Given the description of an element on the screen output the (x, y) to click on. 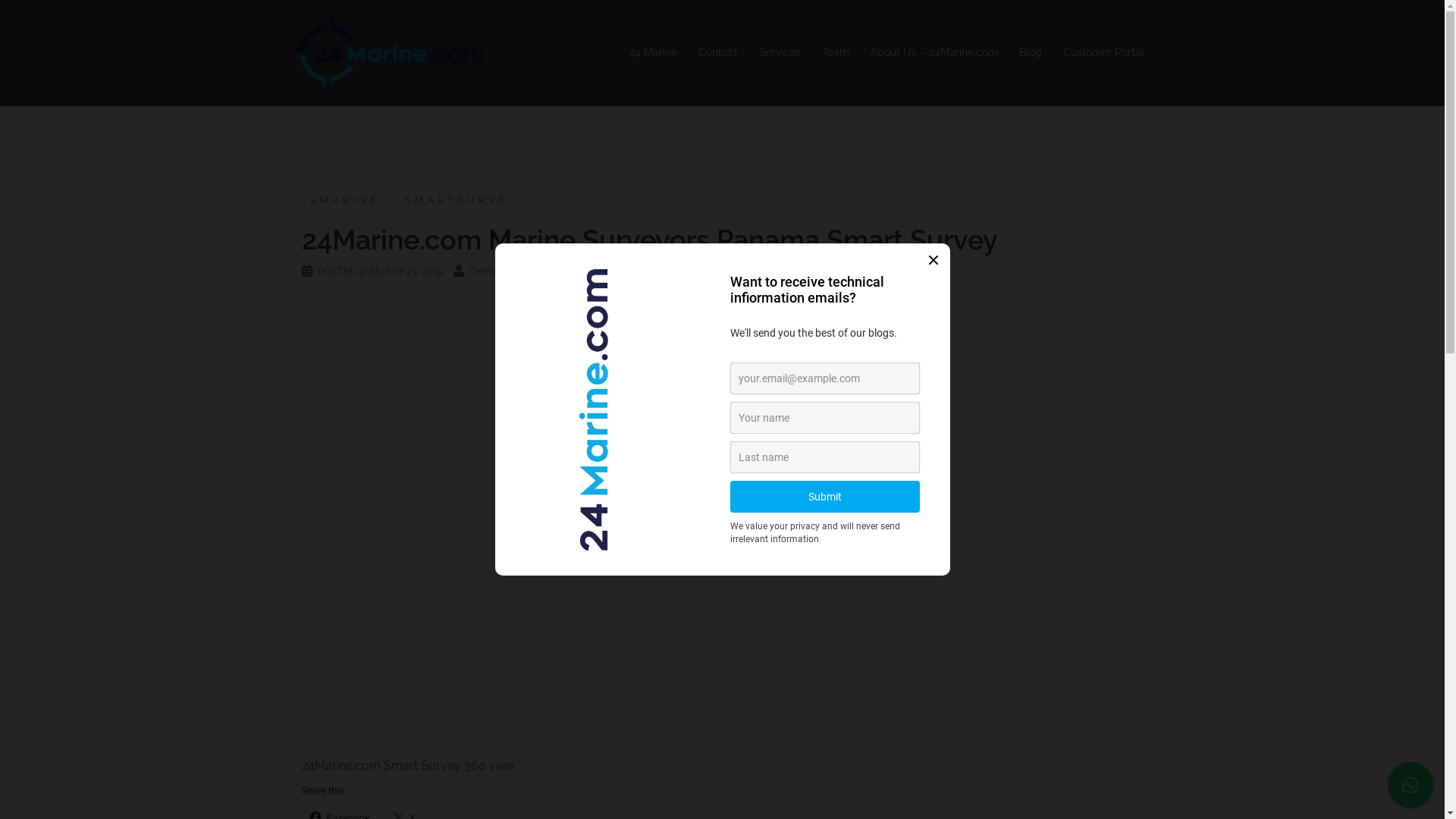
24MARINE Element type: text (340, 199)
CHAVEZLUIS25 Element type: text (504, 270)
Team Element type: text (835, 52)
JANUARY 23, 2019 Element type: text (399, 270)
Services Element type: text (779, 52)
Contact Element type: text (717, 52)
24Marine.com Element type: hover (386, 51)
SMARTSURVEY Element type: text (448, 199)
Customer Portal Element type: text (1103, 52)
24 Marine Element type: text (653, 52)
Blog Element type: text (1030, 52)
